Given the description of an element on the screen output the (x, y) to click on. 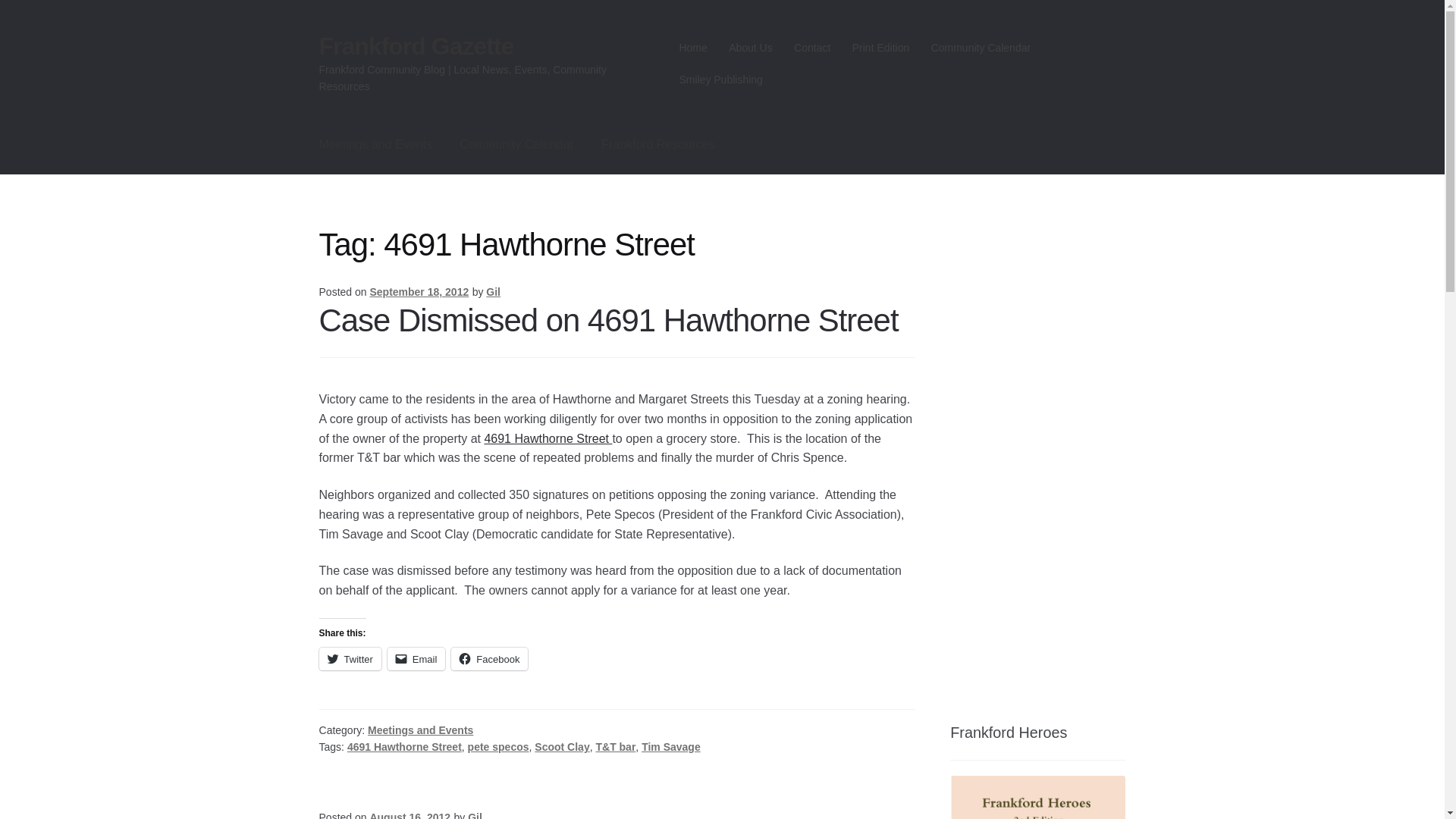
About Us (750, 47)
Click to share on Facebook (489, 658)
Community Calendar (515, 144)
Case Dismissed on 4691 Hawthorne Street (608, 319)
Facebook (489, 658)
Frankford Gazette (415, 45)
Click to share on Twitter (349, 658)
Twitter (349, 658)
Community Calendar (980, 47)
Gil (493, 291)
Meetings and Events (375, 144)
Email (416, 658)
Frankford Resources (657, 144)
Contact (812, 47)
Print Edition (880, 47)
